Given the description of an element on the screen output the (x, y) to click on. 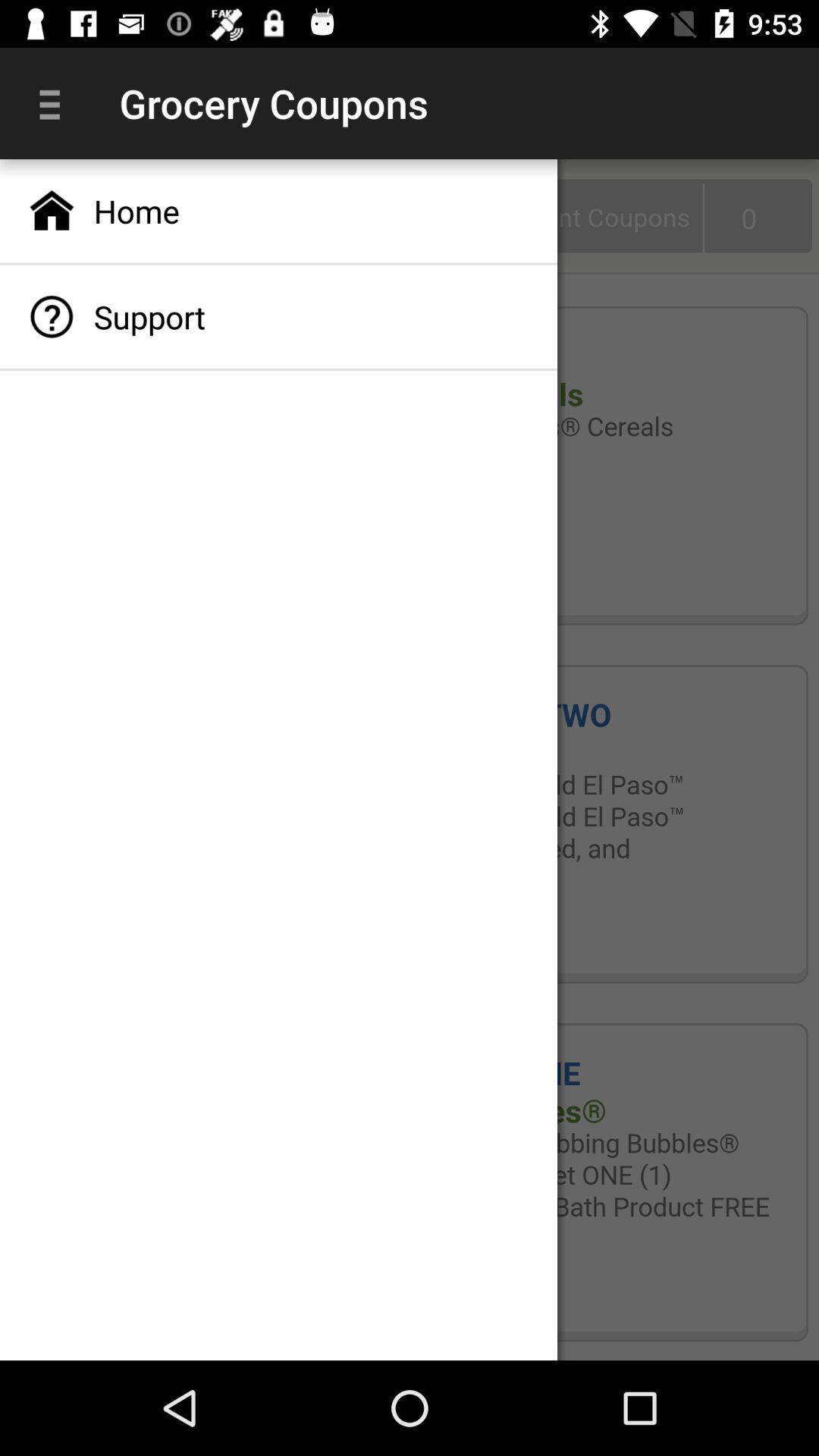
scroll until home (278, 210)
